Given the description of an element on the screen output the (x, y) to click on. 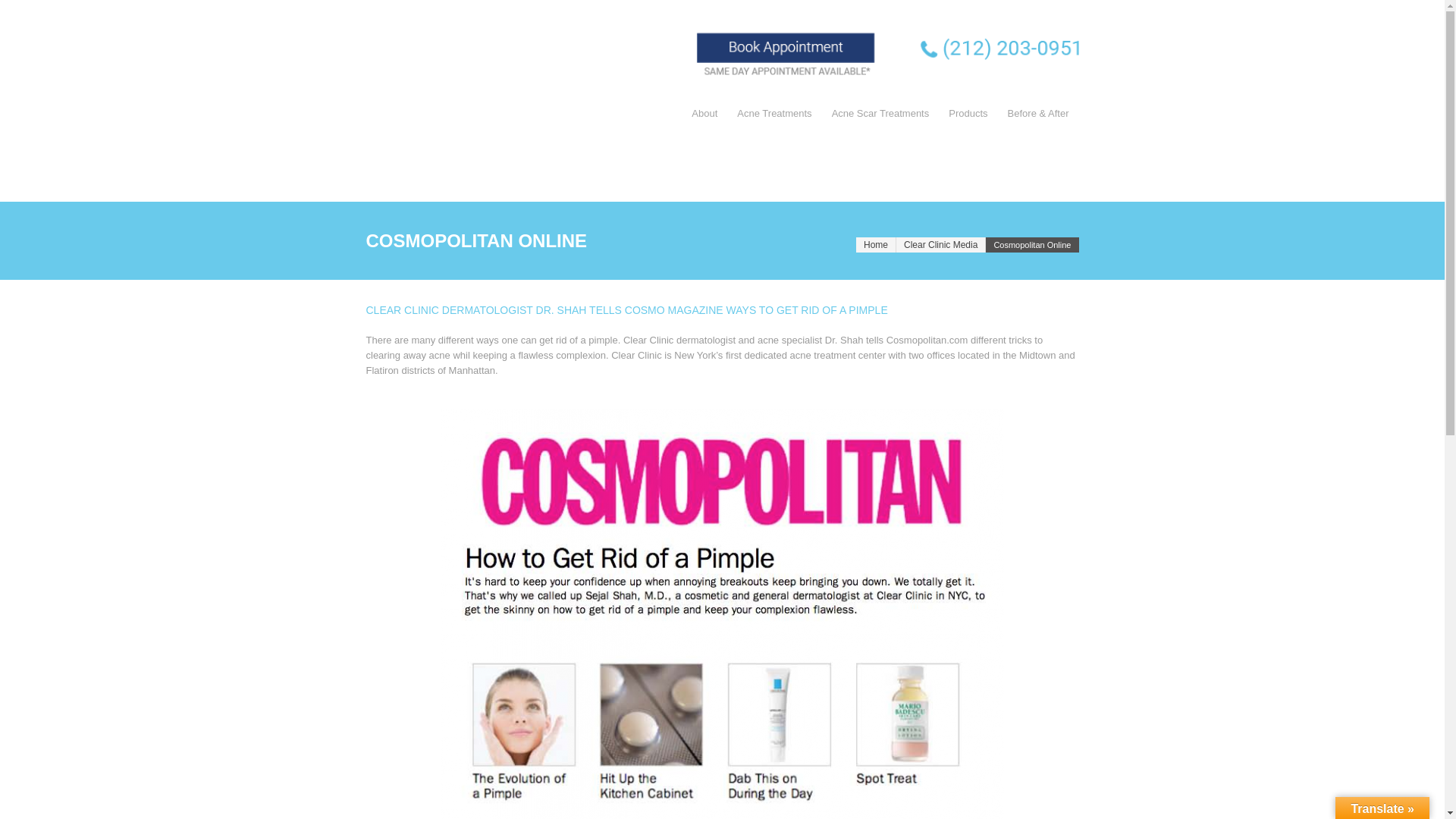
Acne Treatments (773, 113)
Clear Clinic Media (940, 244)
About (703, 113)
Home (875, 244)
Acne Scar Treatments (880, 113)
Products (968, 113)
